Given the description of an element on the screen output the (x, y) to click on. 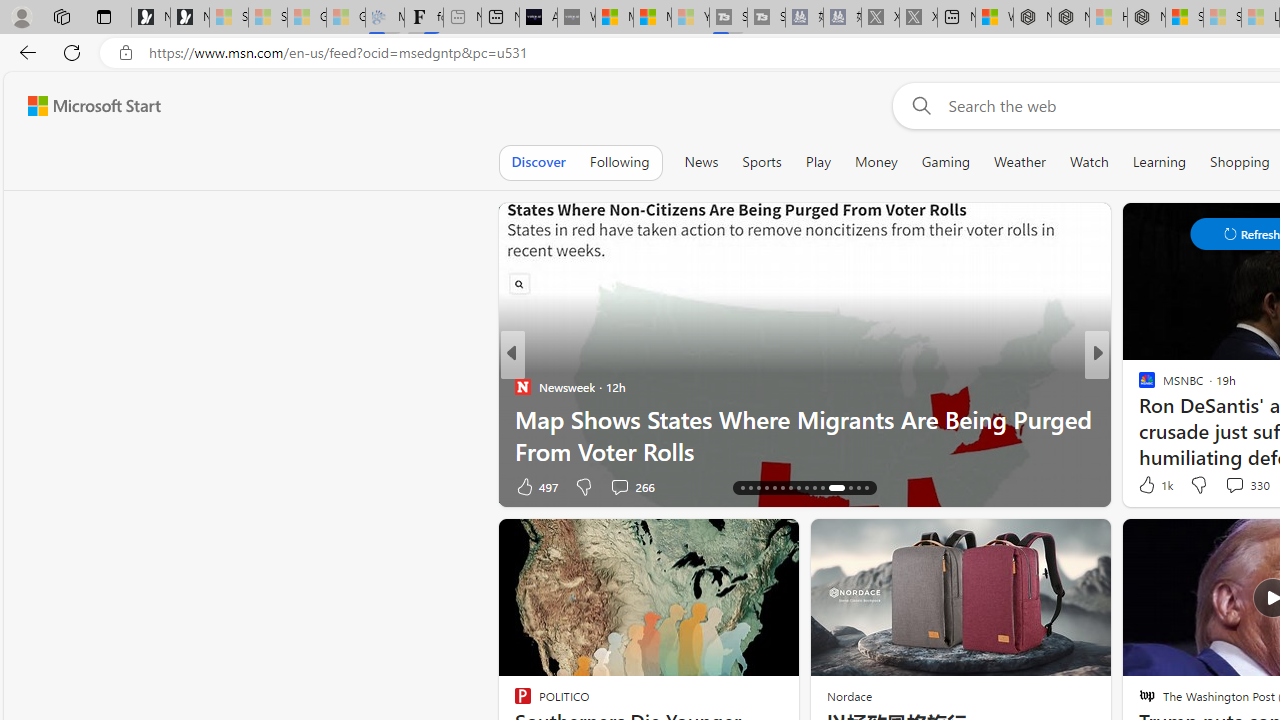
News (701, 161)
AutomationID: tab-19 (765, 487)
View comments 353 Comment (11, 485)
AutomationID: tab-18 (757, 487)
Shopping (1240, 161)
View comments 55 Comment (613, 485)
